Given the description of an element on the screen output the (x, y) to click on. 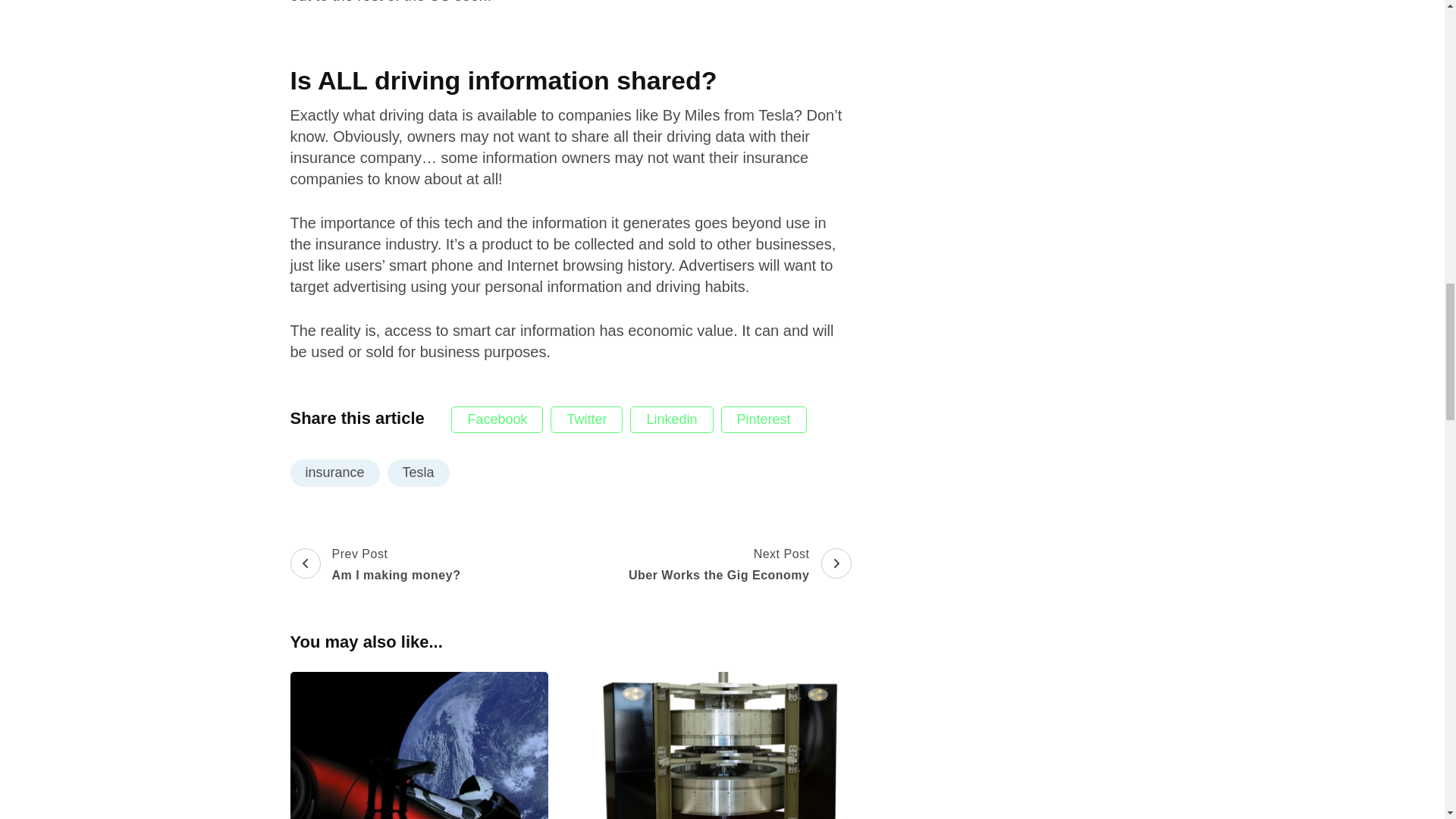
Twitter (586, 419)
Tesla (418, 472)
Linkedin (671, 419)
Facebook (497, 419)
insurance (737, 564)
Pinterest (333, 472)
